Given the description of an element on the screen output the (x, y) to click on. 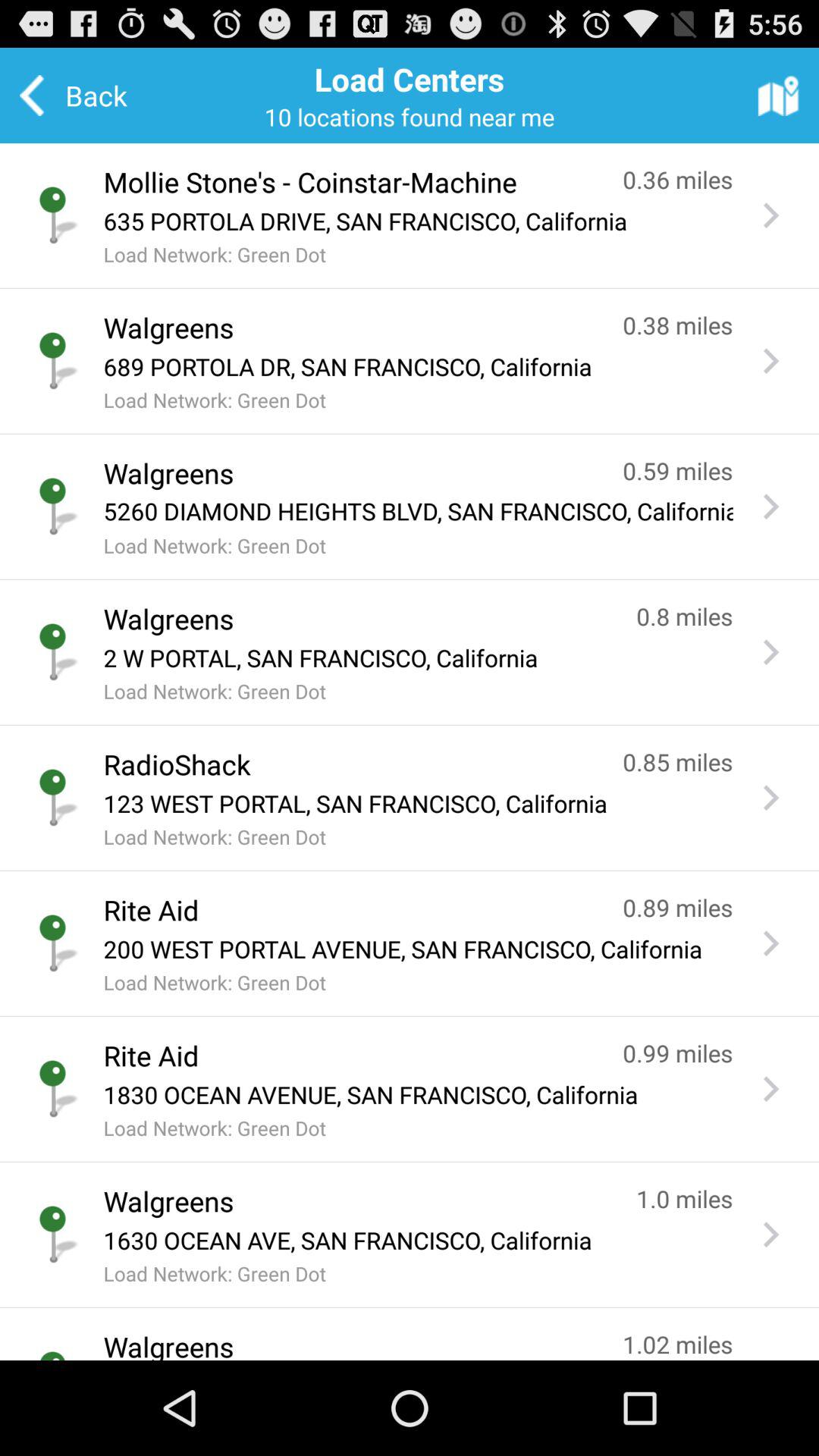
turn off the 5260 diamond heights app (418, 511)
